Given the description of an element on the screen output the (x, y) to click on. 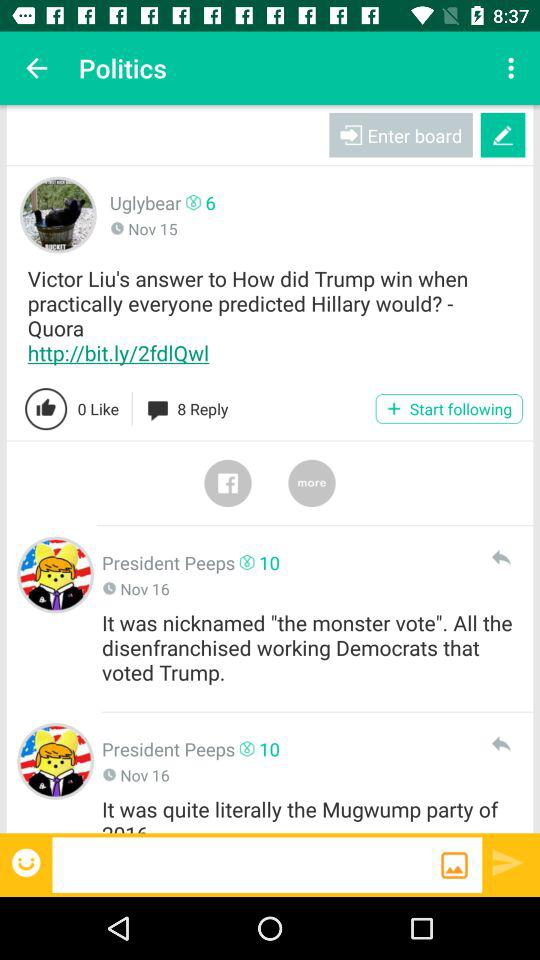
clicks the president peeps profile picture (55, 574)
